Given the description of an element on the screen output the (x, y) to click on. 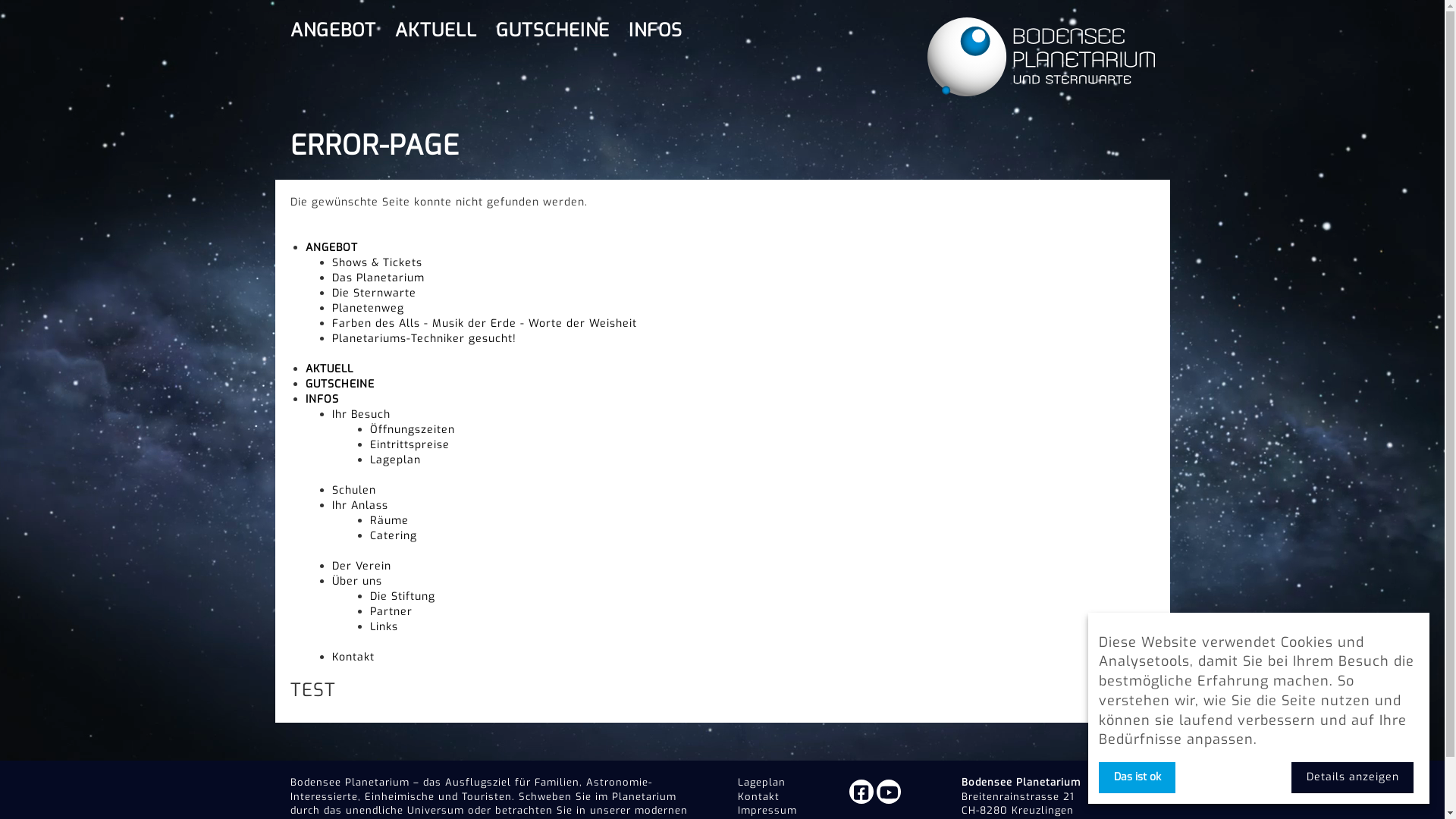
Ihr Besuch Element type: text (361, 414)
Ihr Anlass Element type: text (360, 505)
ANGEBOT Element type: text (330, 247)
Impressum Element type: text (766, 809)
INFOS Element type: text (654, 30)
Lageplan Element type: text (395, 459)
Die Stiftung Element type: text (402, 596)
Partner Element type: text (391, 611)
Die Sternwarte Element type: text (374, 292)
Kontakt Element type: text (353, 656)
ANGEBOT Element type: text (332, 30)
AKTUELL Element type: text (435, 30)
GUTSCHEINE Element type: text (338, 383)
Links Element type: text (384, 626)
INFOS Element type: text (321, 399)
Das ist ok Element type: text (1136, 777)
Details anzeigen Element type: text (1352, 777)
Farben des Alls - Musik der Erde - Worte der Weisheit Element type: text (484, 323)
Planetariums-Techniker gesucht! Element type: text (424, 338)
Der Verein Element type: text (361, 565)
Kontakt Element type: text (757, 796)
Catering Element type: text (393, 535)
Schulen Element type: text (354, 490)
Lageplan Element type: text (760, 781)
Planetenweg Element type: text (368, 308)
AKTUELL Element type: text (328, 368)
Shows & Tickets Element type: text (377, 262)
GUTSCHEINE Element type: text (552, 30)
Das Planetarium Element type: text (378, 277)
Eintrittspreise Element type: text (409, 444)
